Given the description of an element on the screen output the (x, y) to click on. 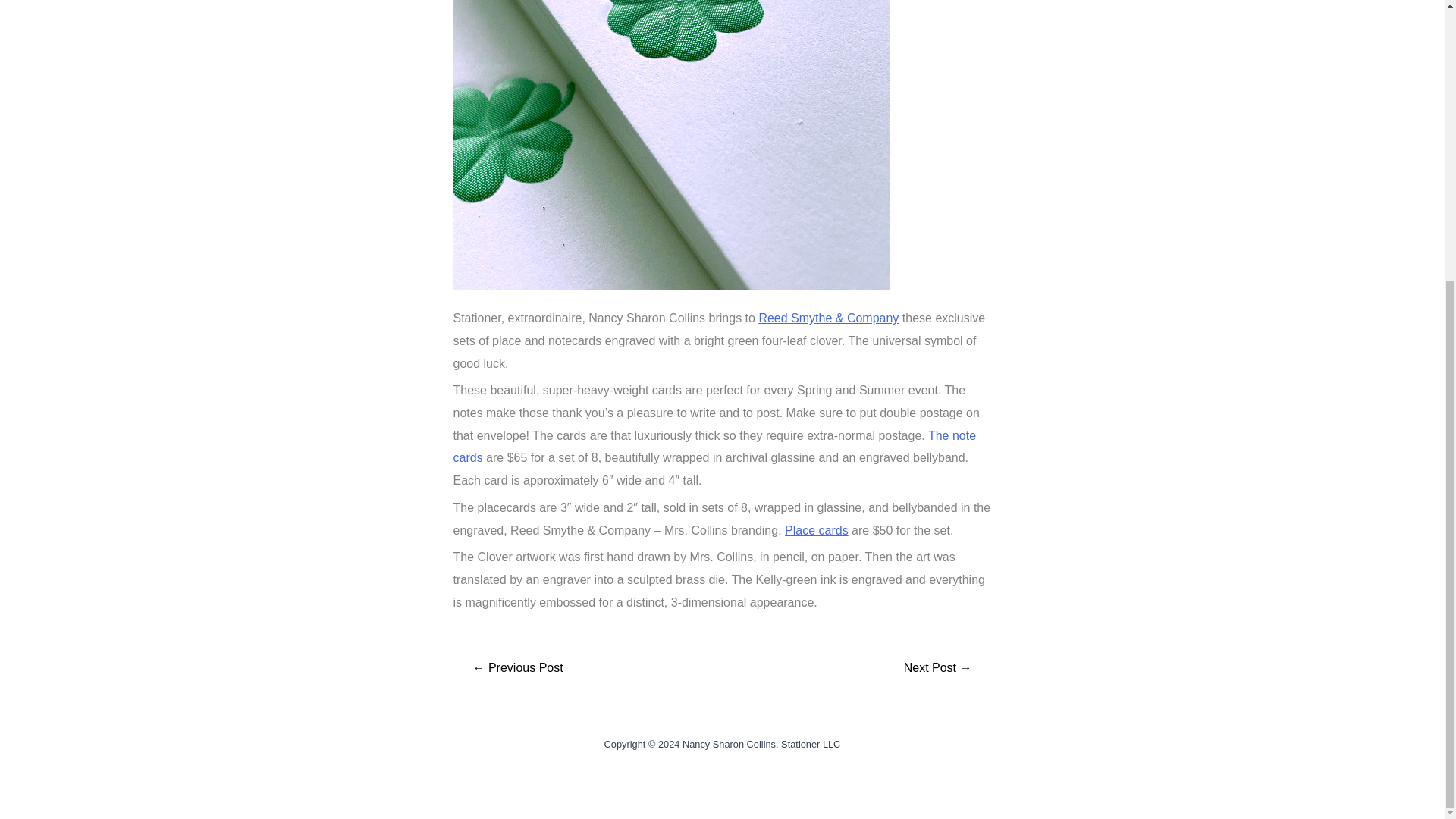
TYPE 101 (517, 667)
Place cards (816, 530)
The note cards (714, 447)
